Given the description of an element on the screen output the (x, y) to click on. 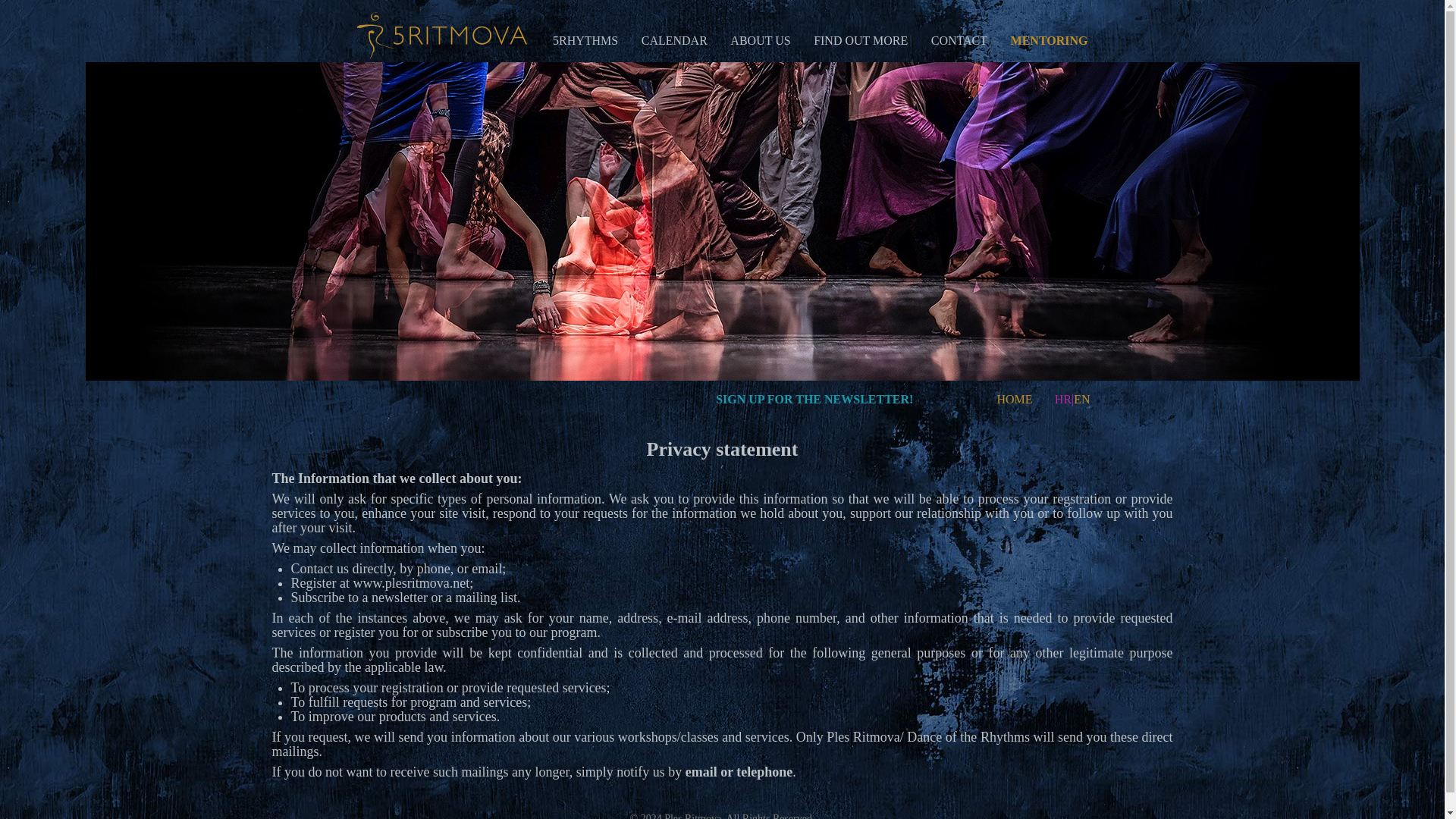
ABOUT US (760, 40)
EN (1081, 399)
CONTACT (959, 40)
MENTORING (1048, 40)
CALENDAR (674, 40)
5RHYTHMS (585, 40)
FIND OUT MORE (860, 40)
HR (1062, 399)
HOME (1013, 399)
SIGN UP FOR THE NEWSLETTER! (814, 399)
